Given the description of an element on the screen output the (x, y) to click on. 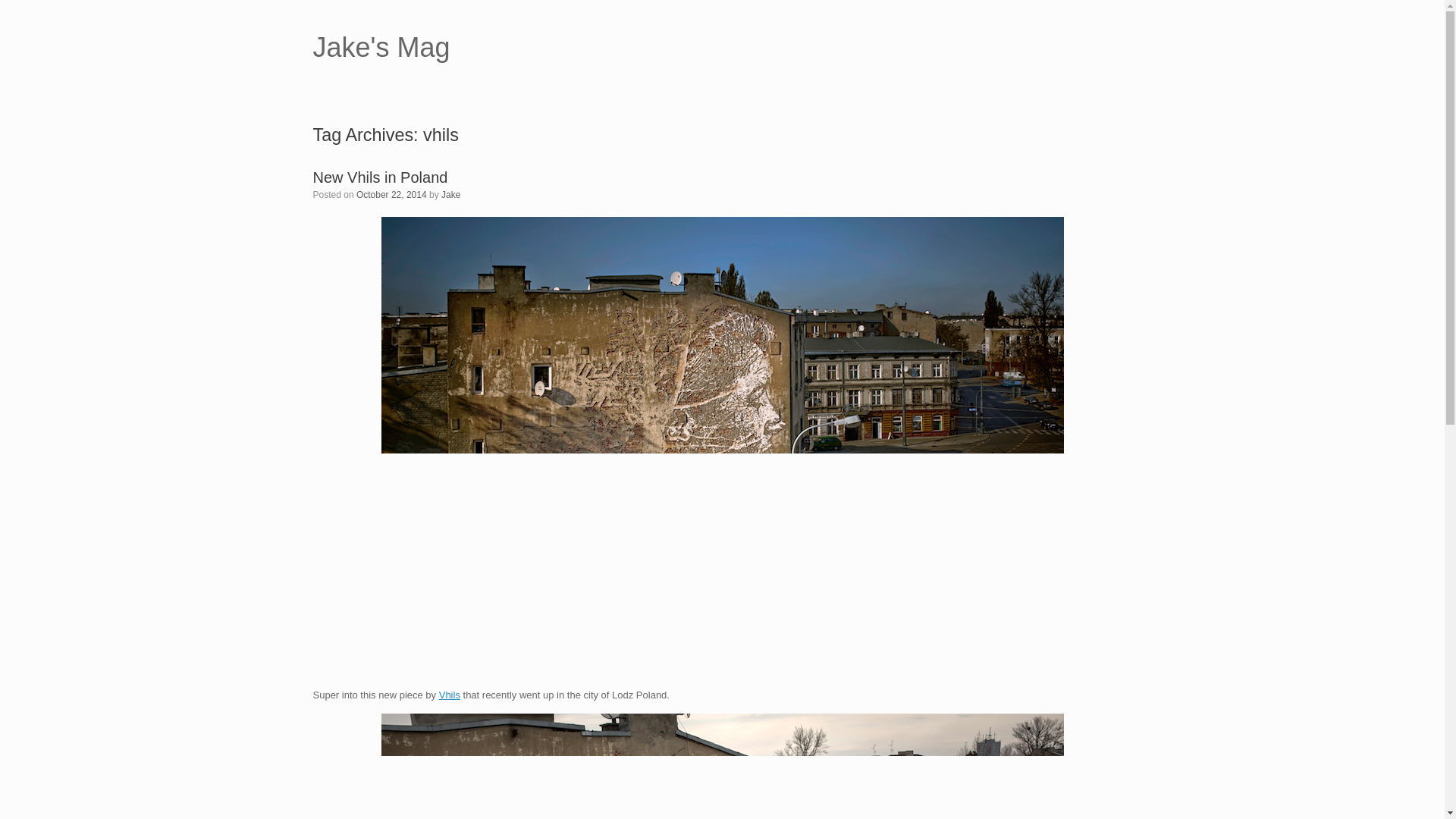
Jake's Mag (381, 47)
Permalink to New Vhils in Poland (379, 176)
Jake's Mag (381, 47)
New Vhils in Poland (379, 176)
3:03 pm (391, 194)
October 22, 2014 (391, 194)
View all posts by Jake (450, 194)
Vhils (449, 695)
Jake (450, 194)
